Given the description of an element on the screen output the (x, y) to click on. 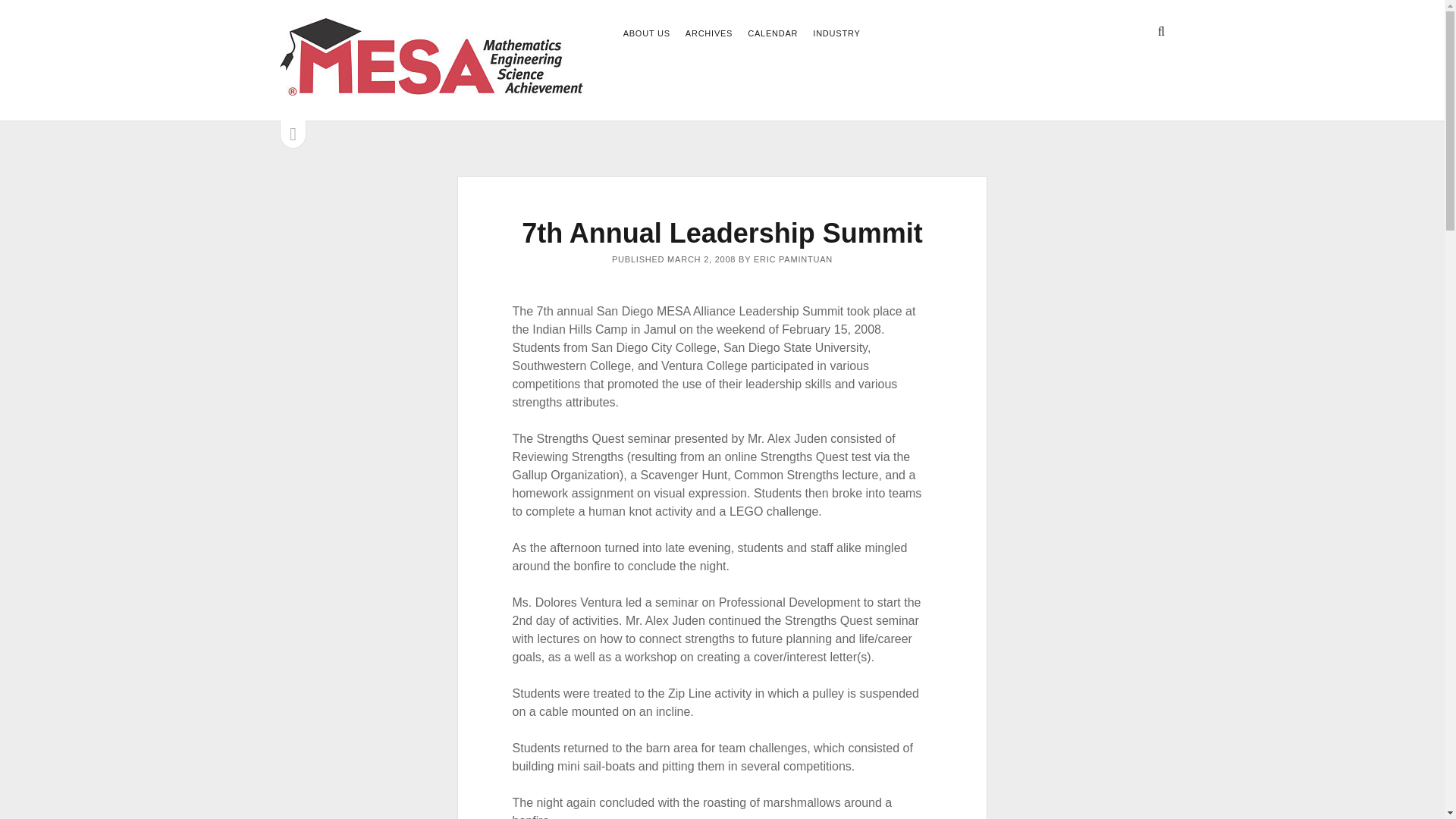
open sidebar (292, 134)
ABOUT US (646, 33)
ARCHIVES (708, 33)
INDUSTRY (836, 33)
CALENDAR (772, 33)
San Diego MESA Alliance (431, 88)
